Given the description of an element on the screen output the (x, y) to click on. 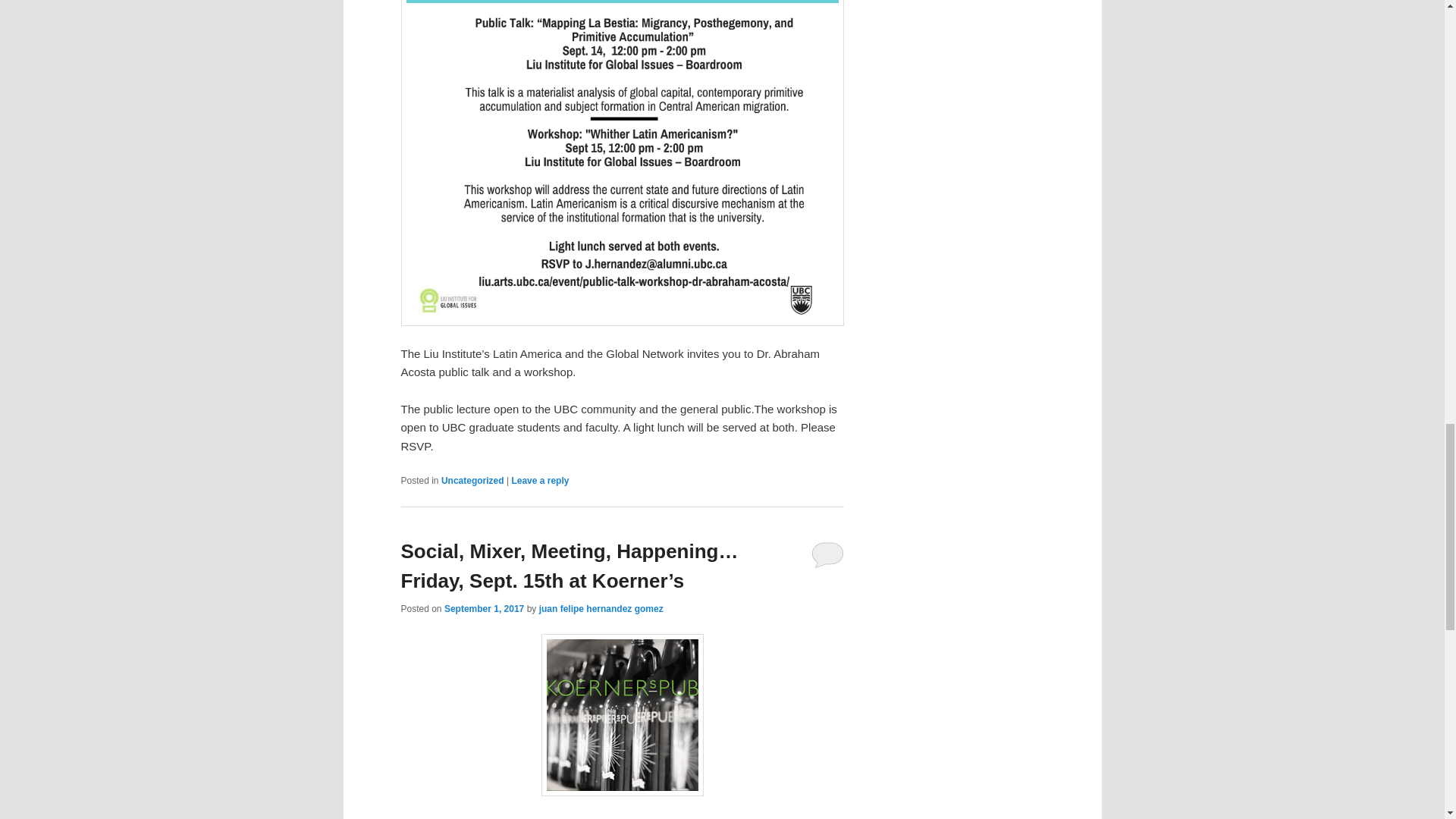
9:30 pm (484, 608)
View all posts by juan felipe hernandez gomez (600, 608)
Leave a reply (540, 480)
Uncategorized (472, 480)
juan felipe hernandez gomez (600, 608)
September 1, 2017 (484, 608)
